Given the description of an element on the screen output the (x, y) to click on. 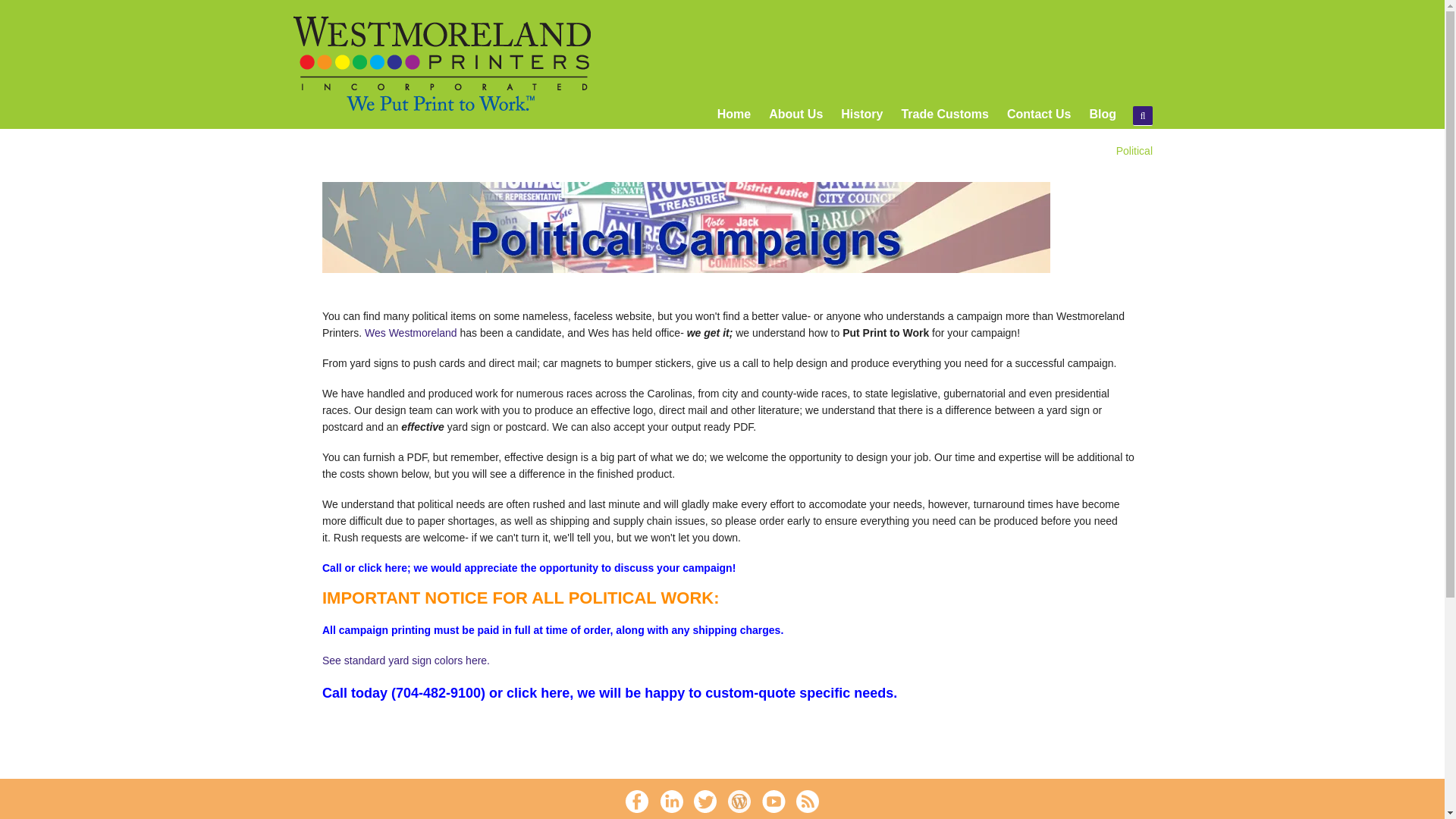
Home (733, 117)
logo (442, 64)
About Us (795, 117)
